Given the description of an element on the screen output the (x, y) to click on. 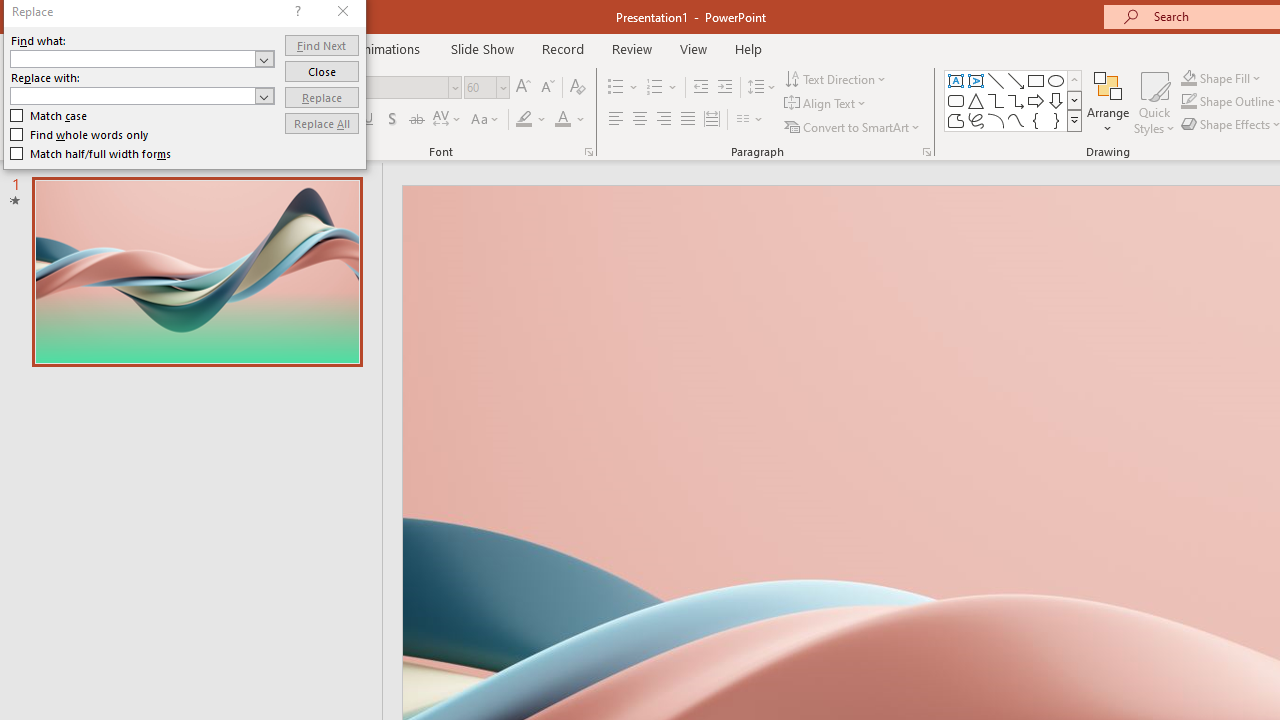
Find what (132, 58)
